Given the description of an element on the screen output the (x, y) to click on. 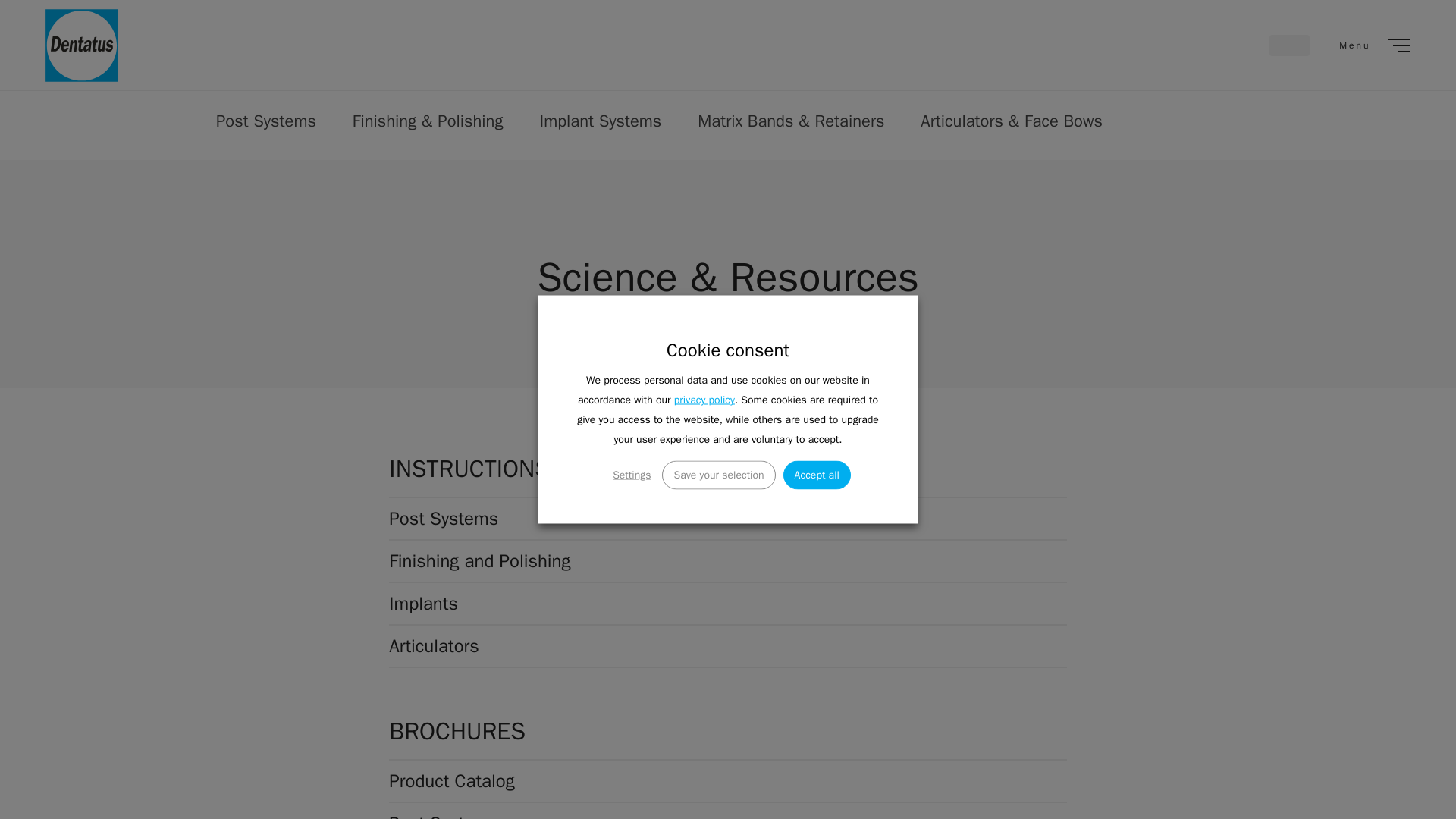
Menu (1373, 45)
Post Systems (266, 121)
Implant Systems (600, 121)
